Given the description of an element on the screen output the (x, y) to click on. 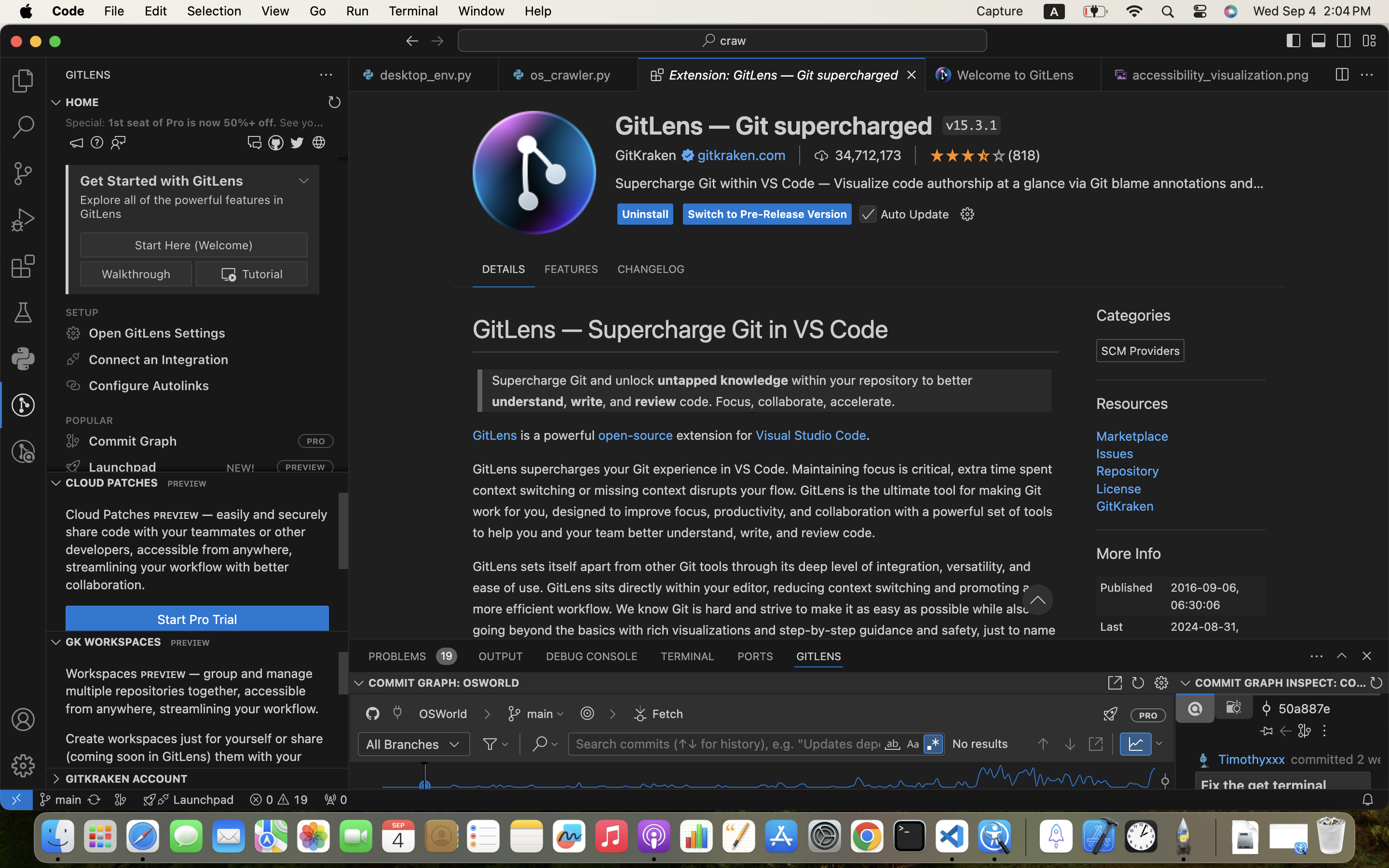
Marketplace Element type: AXStaticText (1132, 435)
0  Element type: AXRadioButton (23, 219)
return Element type: AXStaticText (441, 435)
File Annotations Element type: AXStaticText (427, 510)
COMMIT GRAPH INSPECT: COMMIT DETAILS   Element type: AXButton (1282, 682)
